Given the description of an element on the screen output the (x, y) to click on. 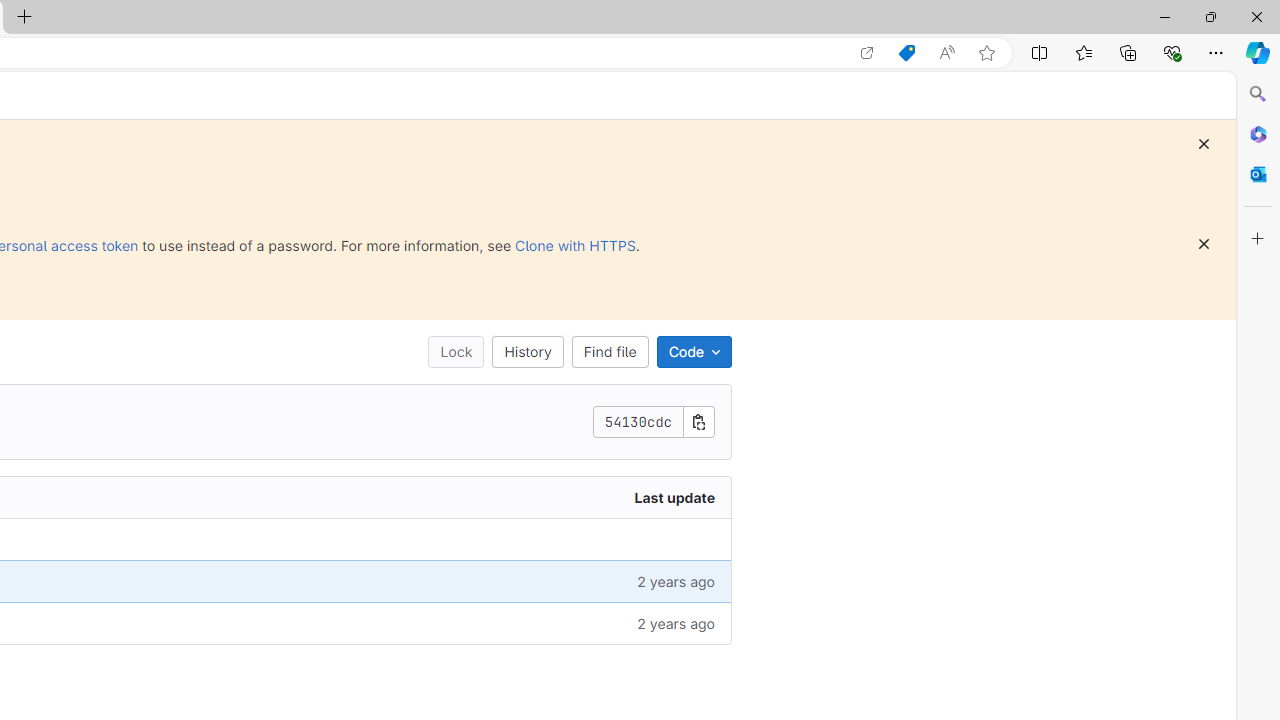
2 years ago (556, 622)
Code (693, 351)
Clone with HTTPS (575, 245)
Dismiss (1203, 243)
Last update (556, 497)
Find file (609, 351)
